Given the description of an element on the screen output the (x, y) to click on. 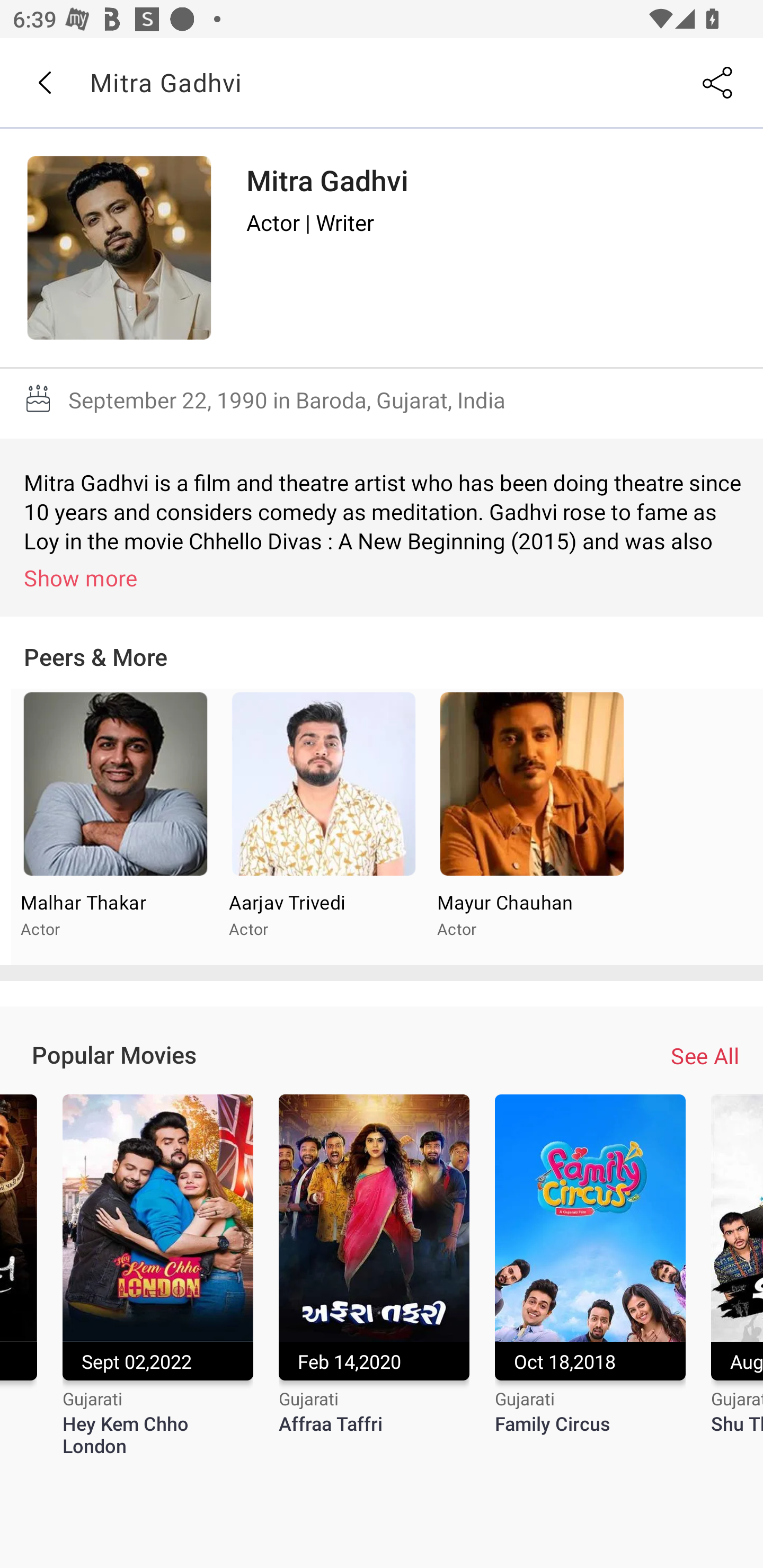
Back (44, 82)
Show more (384, 577)
Malhar Thakar Actor (115, 826)
Aarjav Trivedi Actor (323, 826)
Mayur Chauhan Actor (531, 826)
See All (704, 1055)
Sept 02,2022 Gujarati Hey Kem Chho London (157, 1276)
Feb 14,2020 Gujarati Affraa Taffri (373, 1276)
Oct 18,2018 Gujarati Family Circus (590, 1276)
